Given the description of an element on the screen output the (x, y) to click on. 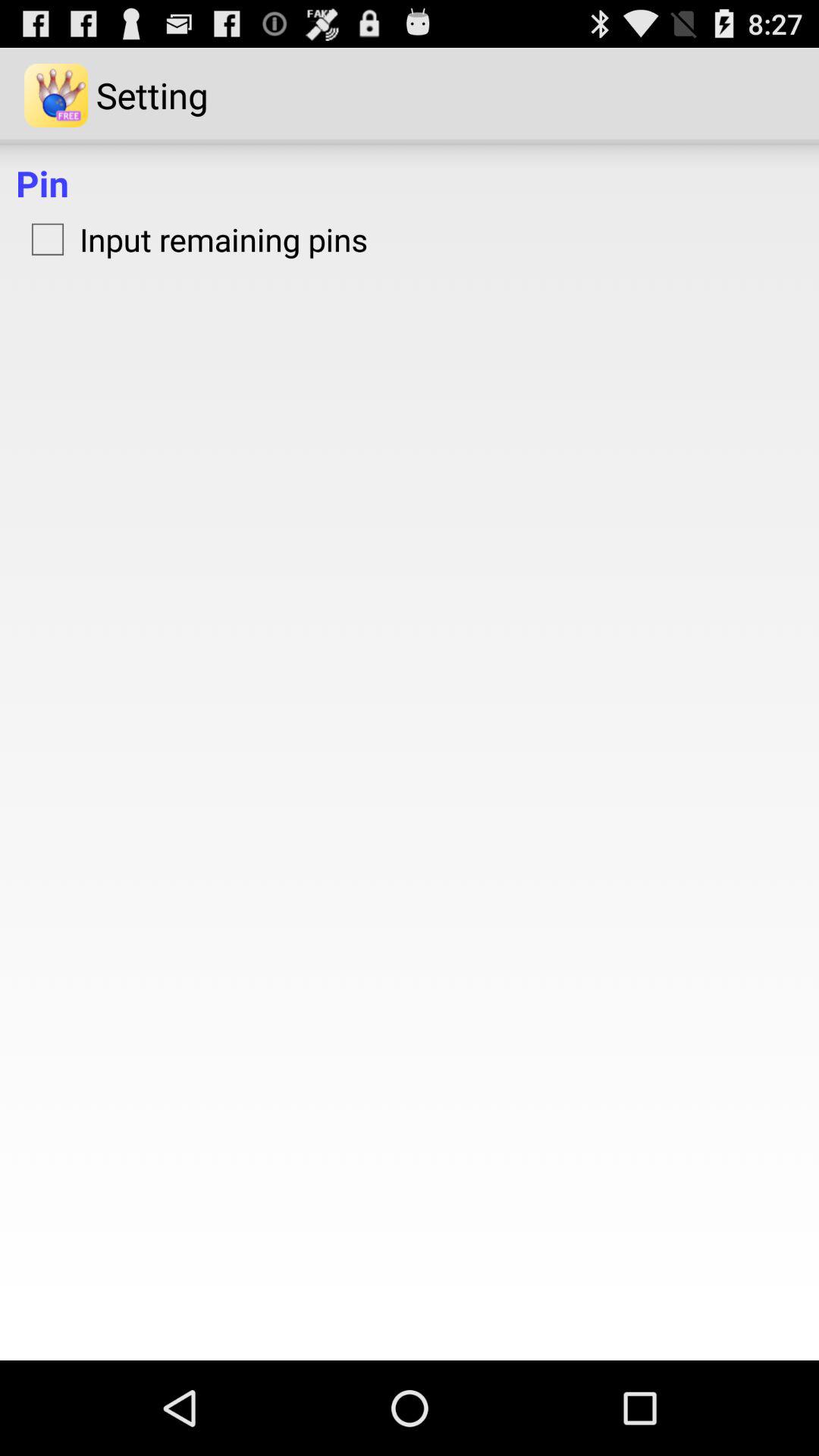
turn off item below the pin icon (191, 239)
